Given the description of an element on the screen output the (x, y) to click on. 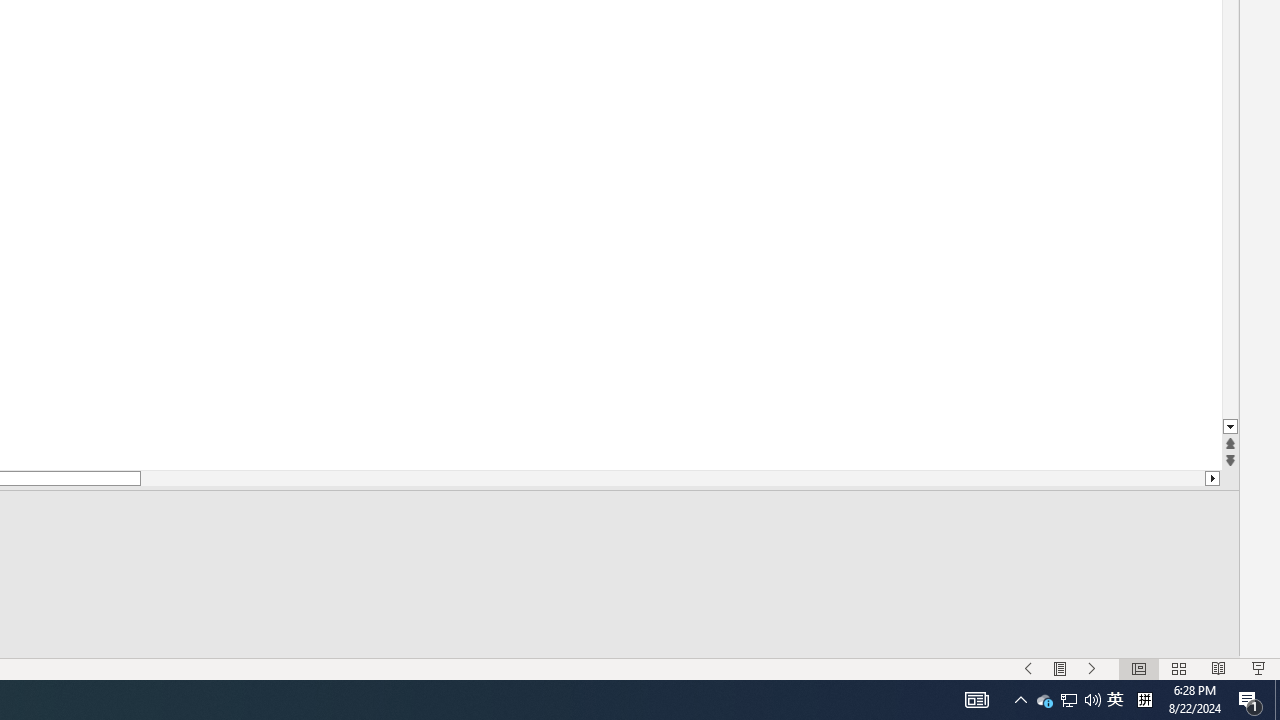
Slide Show (1258, 668)
Slide Show Next On (1092, 668)
Menu On (1060, 668)
Slide Sorter (1178, 668)
Normal (1138, 668)
Reading View (1219, 668)
Slide Show Previous On (1028, 668)
